Given the description of an element on the screen output the (x, y) to click on. 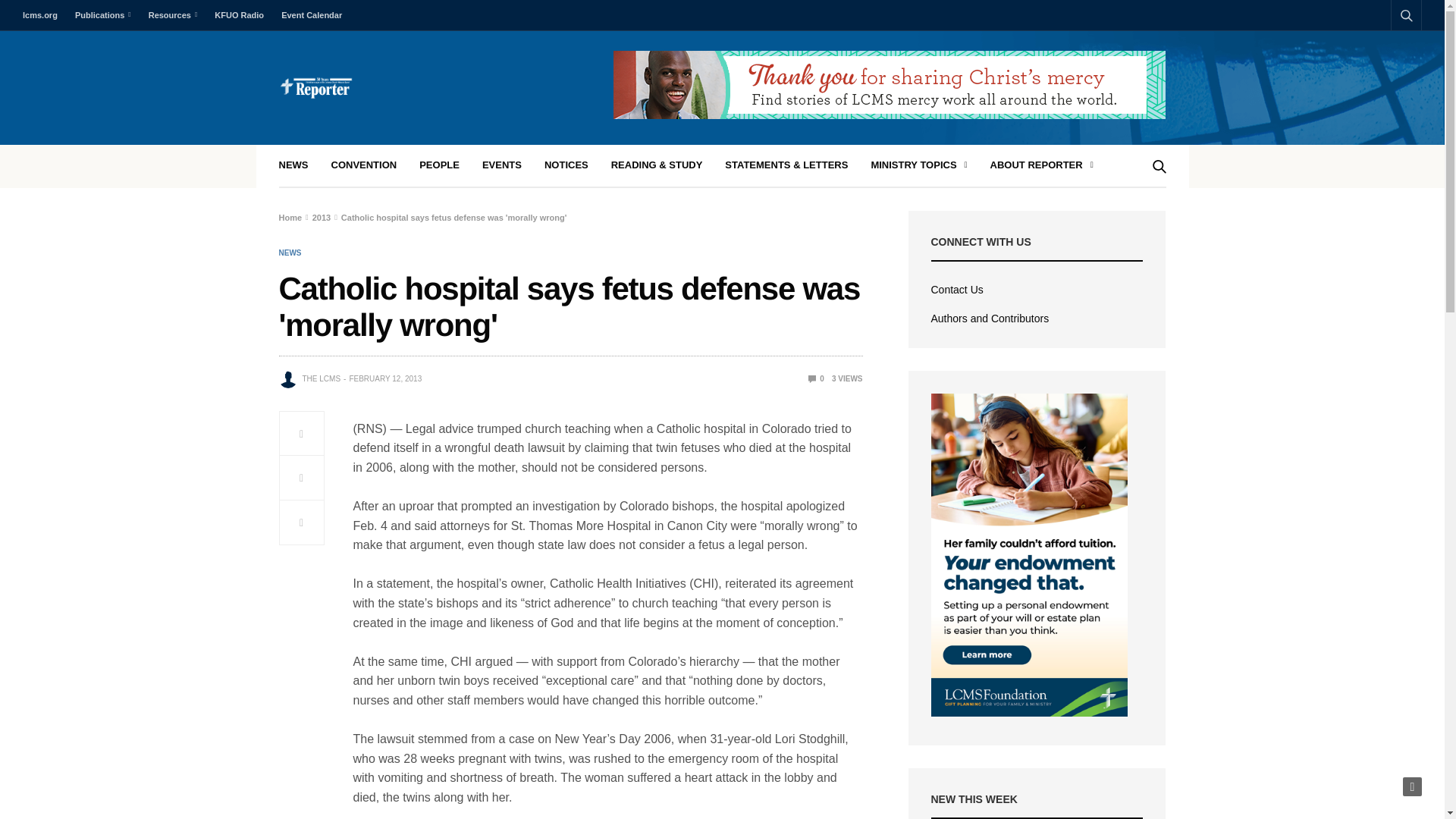
Catholic hospital says fetus defense was 'morally wrong' (816, 378)
lcms.org (44, 15)
Publications (102, 15)
Posts by The LCMS (320, 378)
News (290, 253)
